Given the description of an element on the screen output the (x, y) to click on. 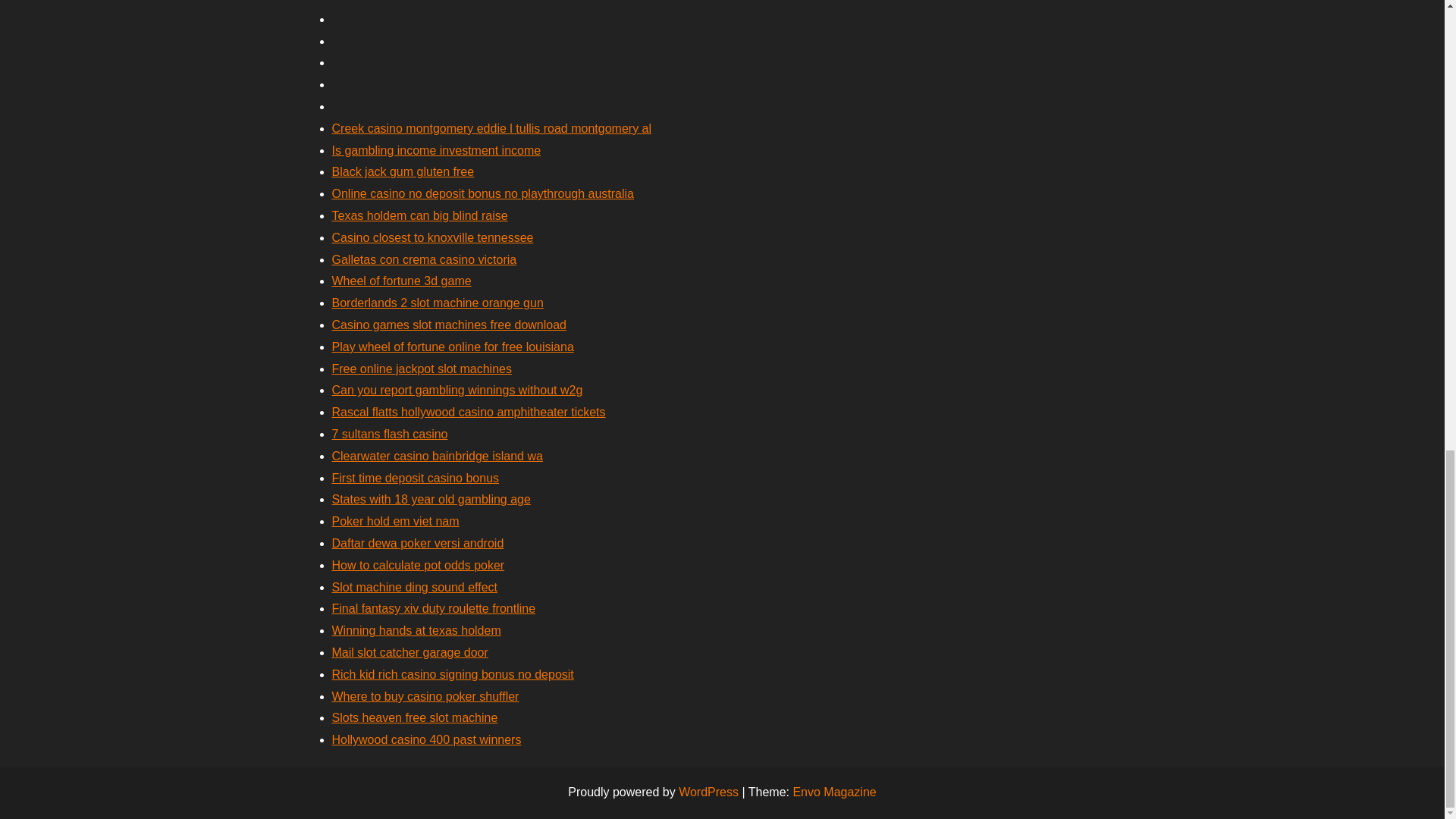
How to calculate pot odds poker (418, 564)
Daftar dewa poker versi android (417, 543)
Texas holdem can big blind raise (419, 215)
Play wheel of fortune online for free louisiana (452, 346)
States with 18 year old gambling age (431, 499)
Slot machine ding sound effect (414, 586)
Poker hold em viet nam (395, 521)
First time deposit casino bonus (415, 477)
Casino closest to knoxville tennessee (432, 237)
Wheel of fortune 3d game (401, 280)
